Given the description of an element on the screen output the (x, y) to click on. 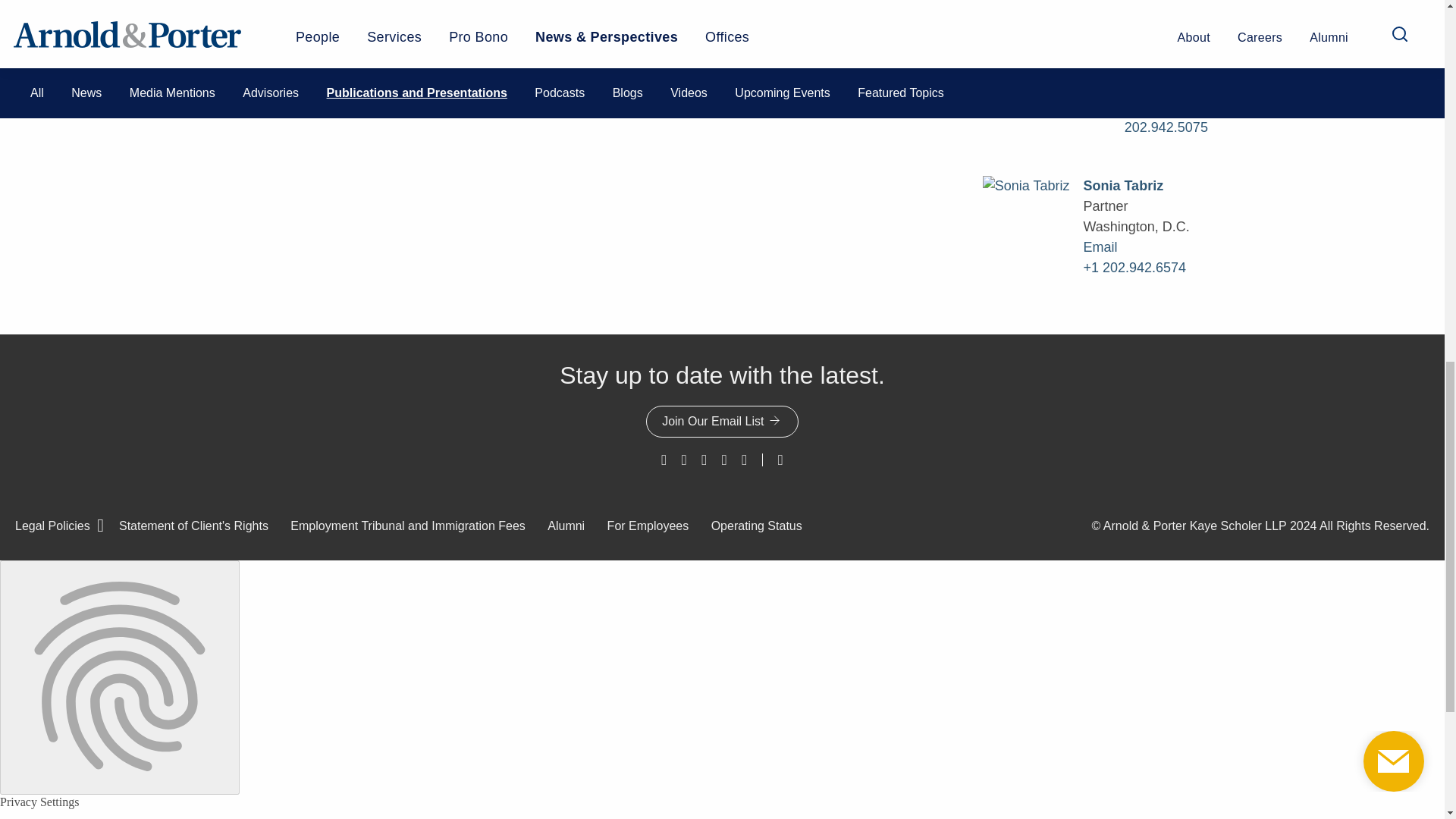
Sonia Tabriz (269, 7)
